Given the description of an element on the screen output the (x, y) to click on. 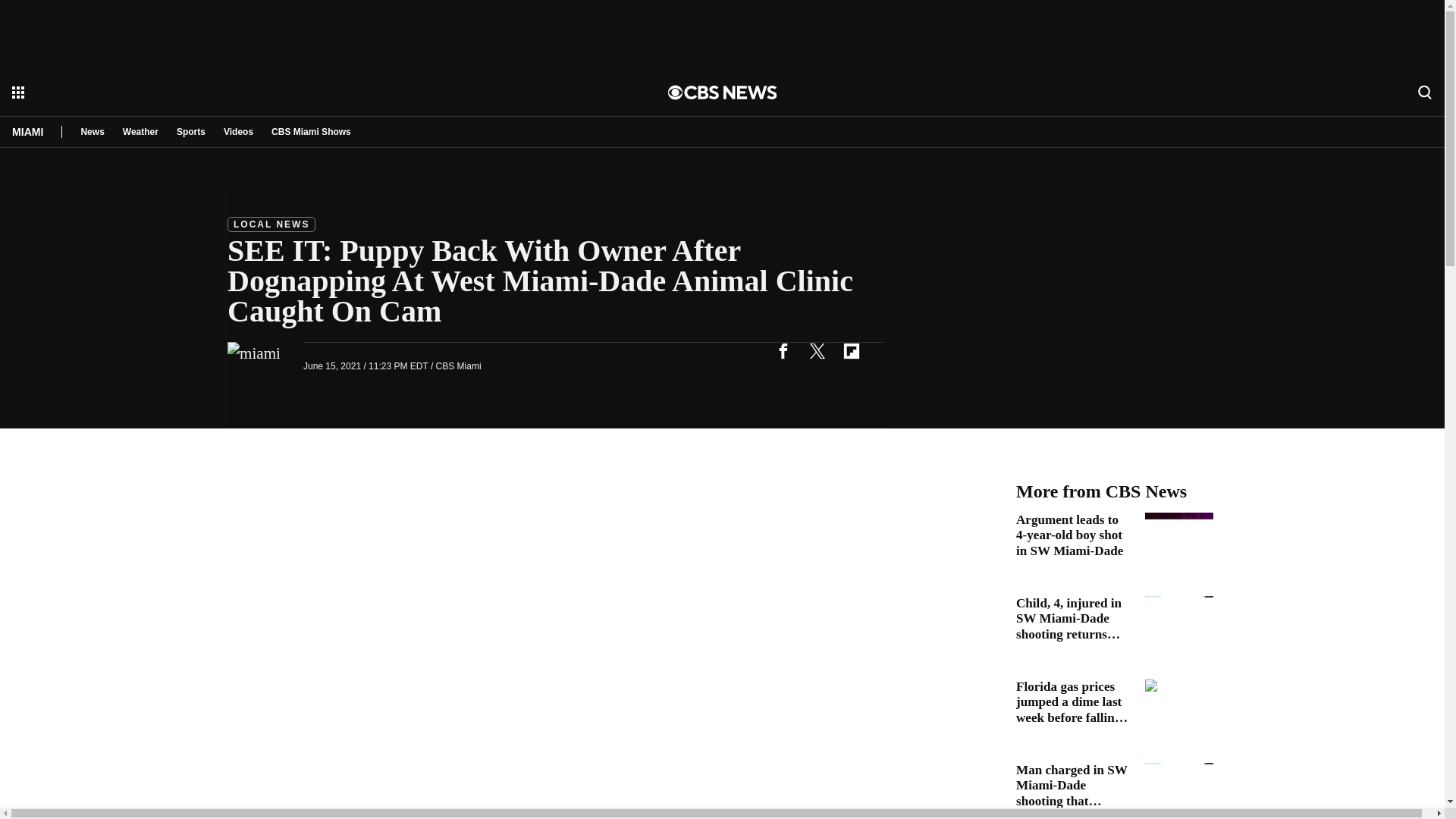
facebook (782, 350)
flipboard (850, 350)
twitter (816, 350)
